Given the description of an element on the screen output the (x, y) to click on. 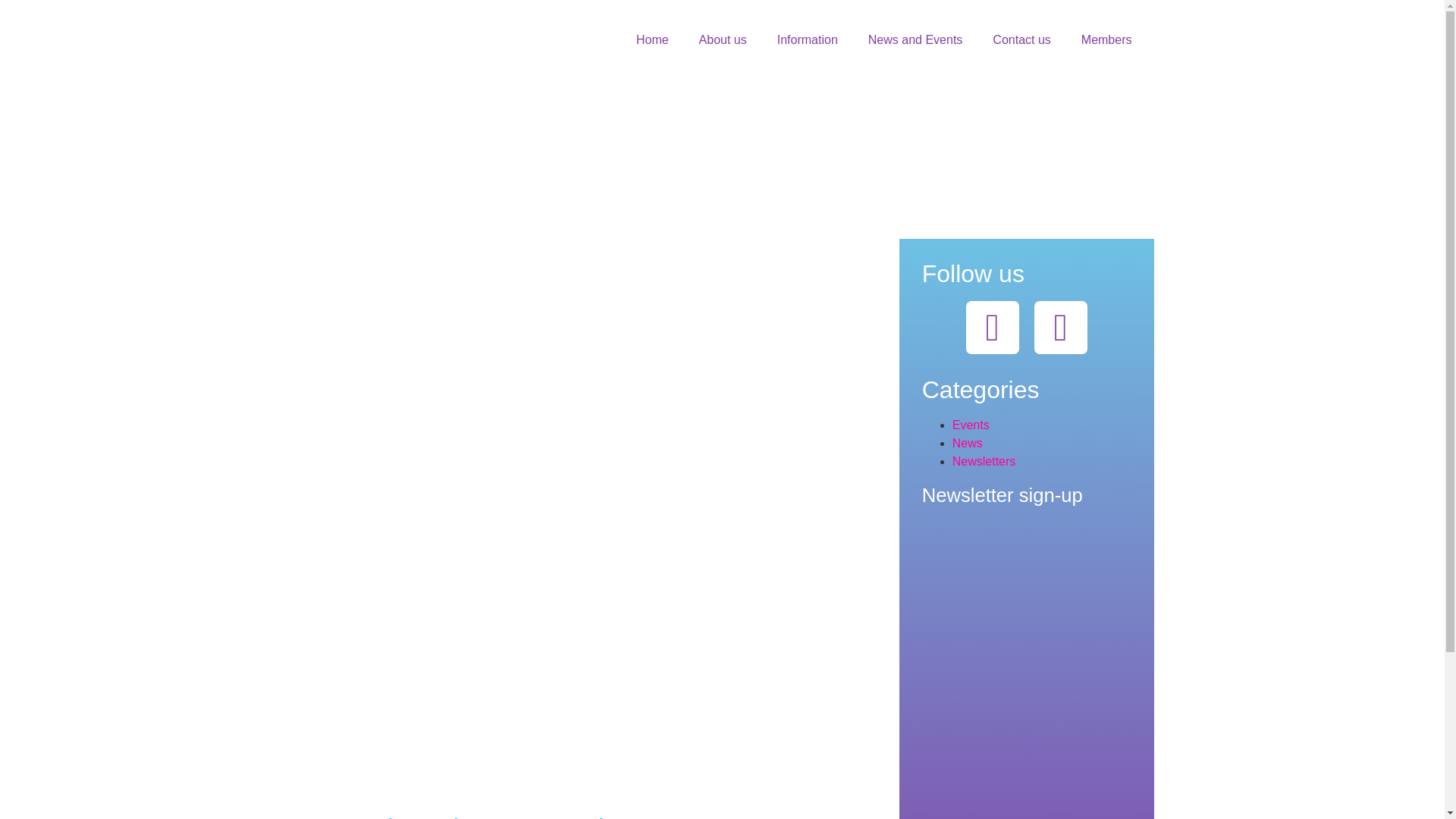
About us (722, 39)
Home (652, 39)
News and Events (915, 39)
Contact us (1020, 39)
Information (807, 39)
Members (1106, 39)
